Given the description of an element on the screen output the (x, y) to click on. 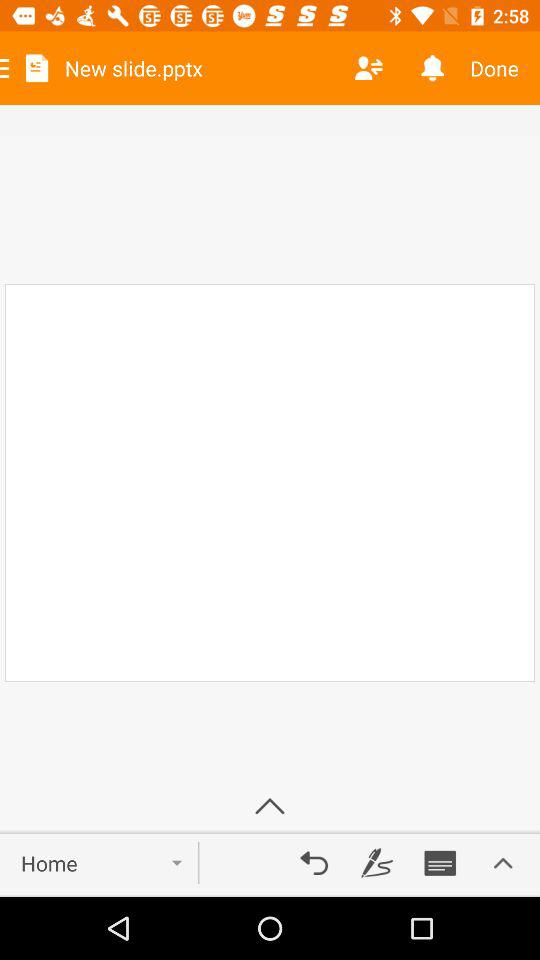
choose the item at the center (270, 482)
